Given the description of an element on the screen output the (x, y) to click on. 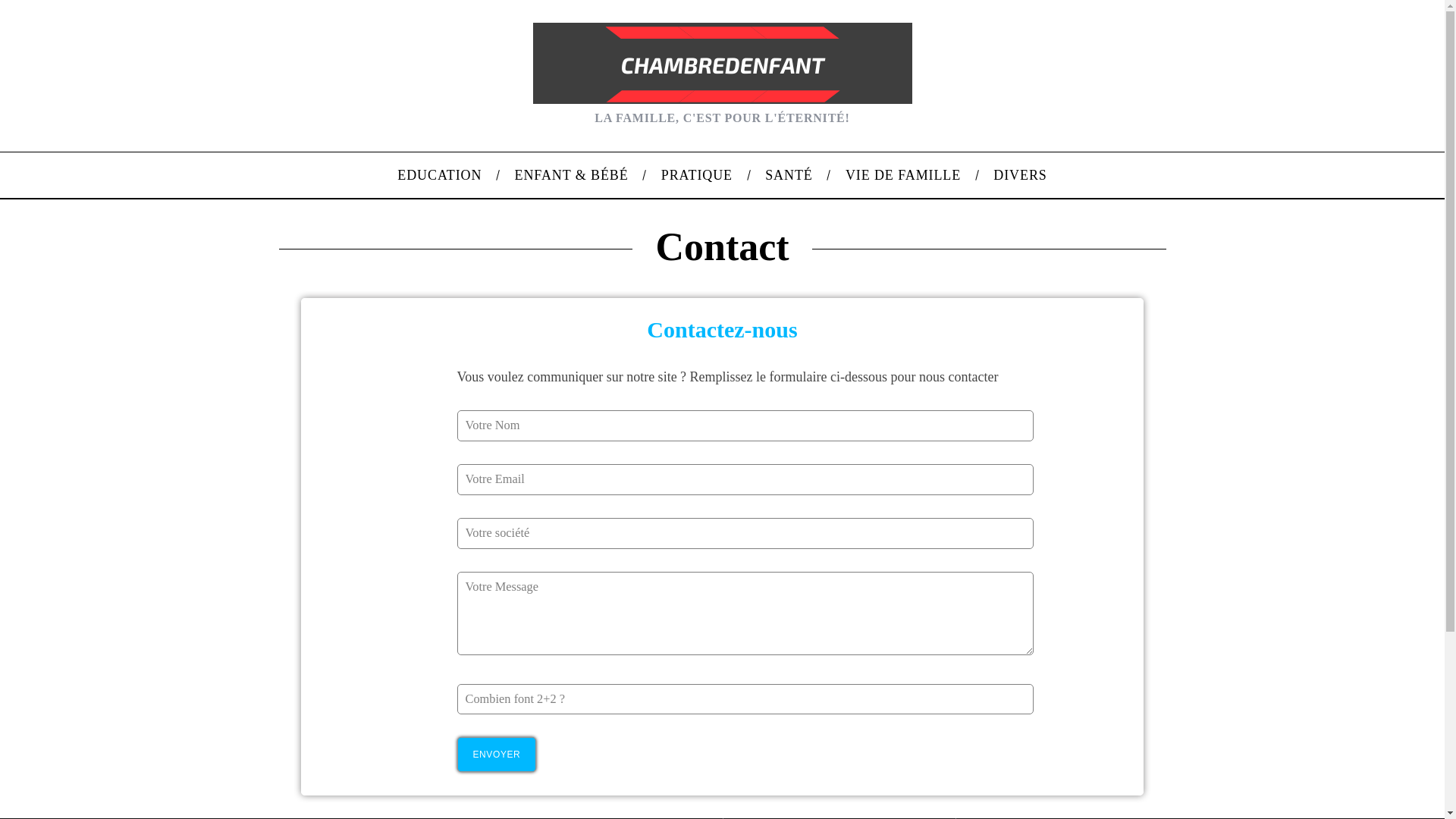
VIE DE FAMILLE Element type: text (902, 174)
PRATIQUE Element type: text (696, 174)
EDUCATION Element type: text (439, 174)
DIVERS Element type: text (1020, 174)
Envoyer Element type: text (496, 754)
